Given the description of an element on the screen output the (x, y) to click on. 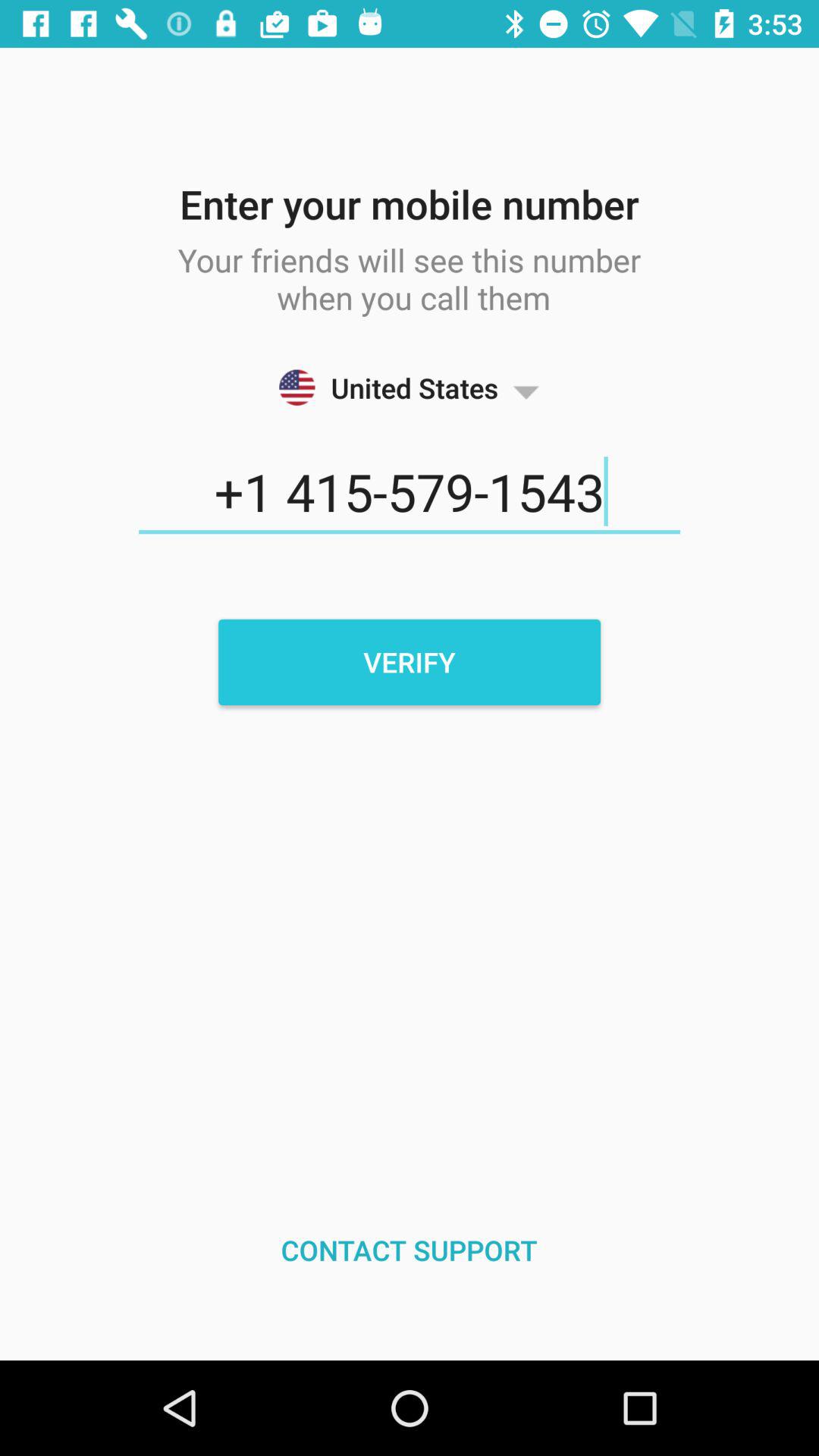
flip to contact support icon (409, 1249)
